Given the description of an element on the screen output the (x, y) to click on. 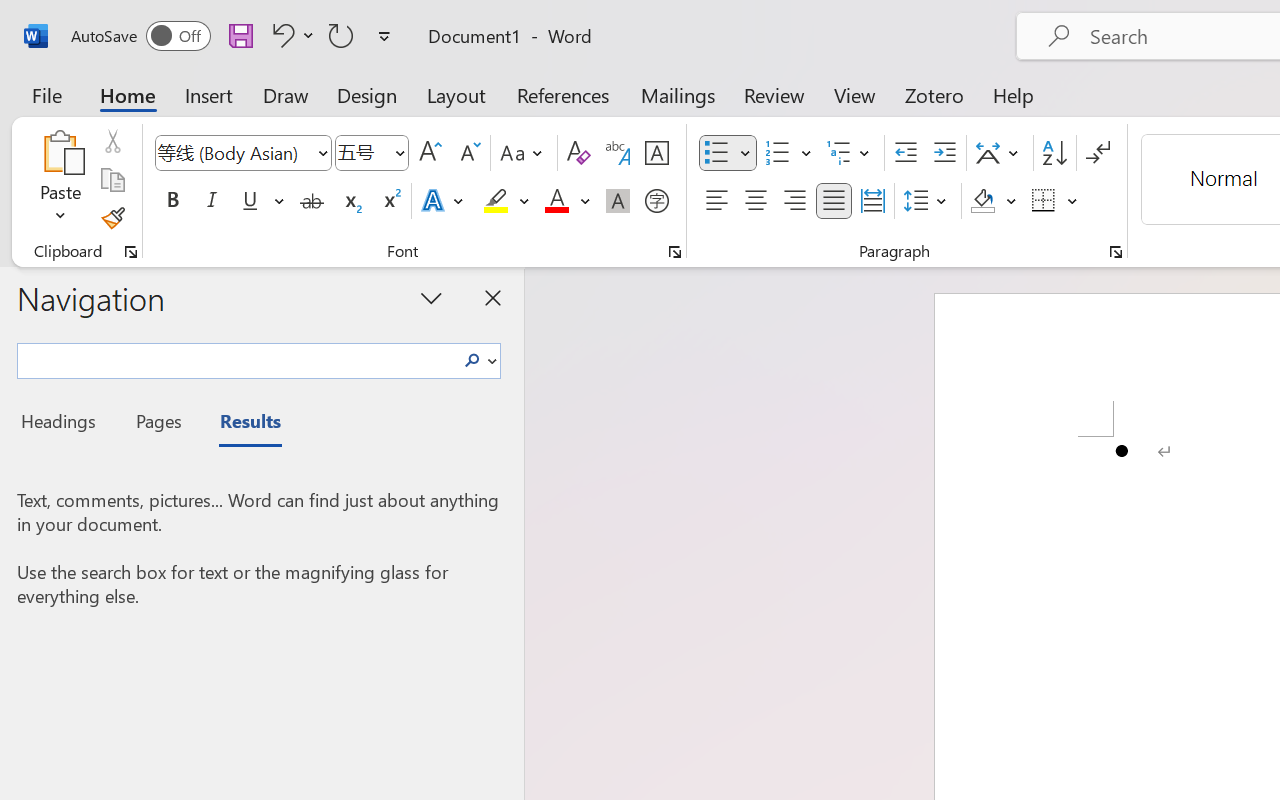
Results (240, 424)
